Given the description of an element on the screen output the (x, y) to click on. 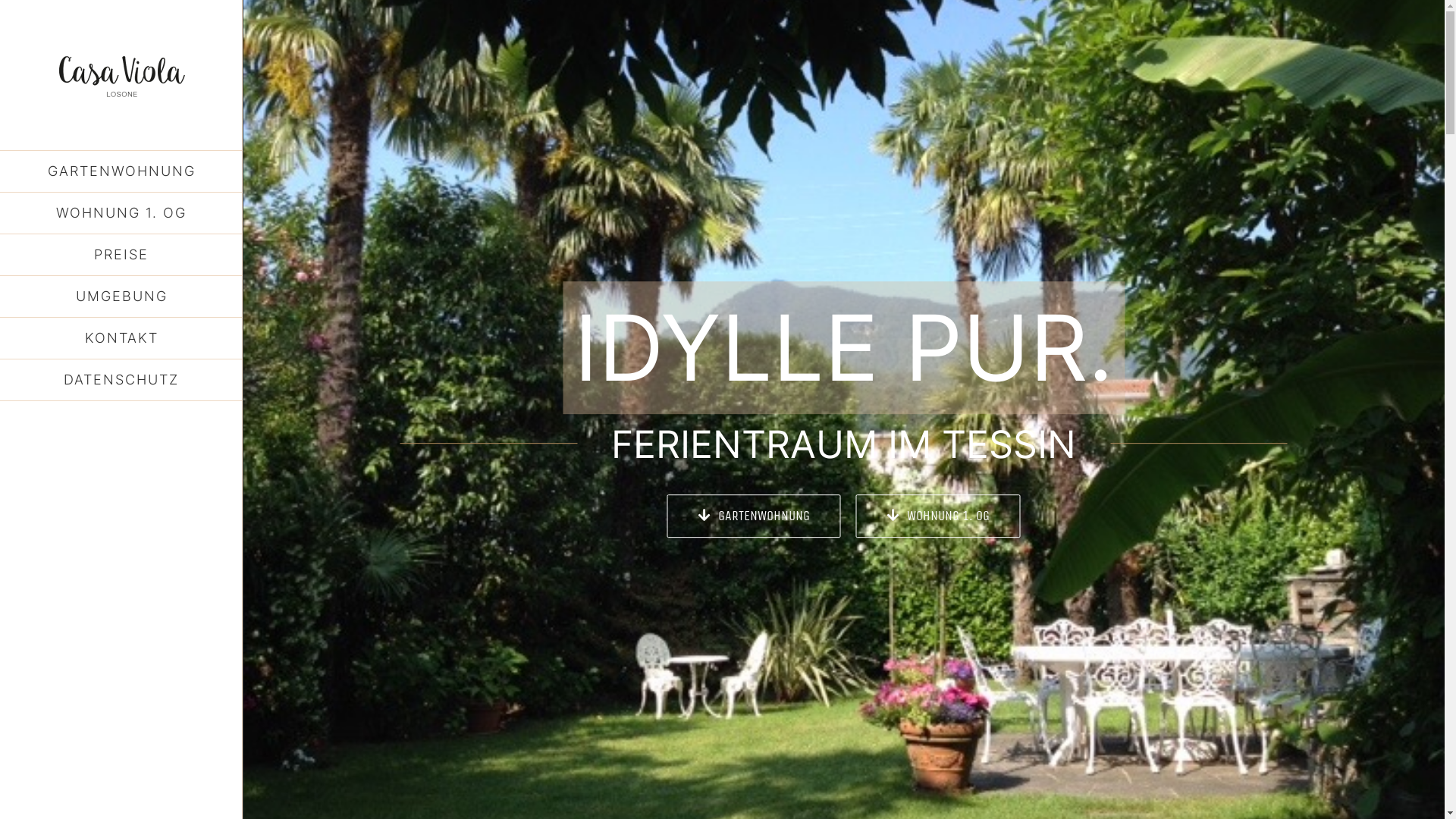
KONTAKT Element type: text (121, 338)
WOHNUNG 1. OG Element type: text (121, 213)
UMGEBUNG Element type: text (121, 296)
DATENSCHUTZ Element type: text (121, 380)
GARTENWOHNUNG Element type: text (753, 515)
WOHNUNG 1. OG Element type: text (937, 515)
GARTENWOHNUNG Element type: text (121, 171)
PREISE Element type: text (121, 255)
